Given the description of an element on the screen output the (x, y) to click on. 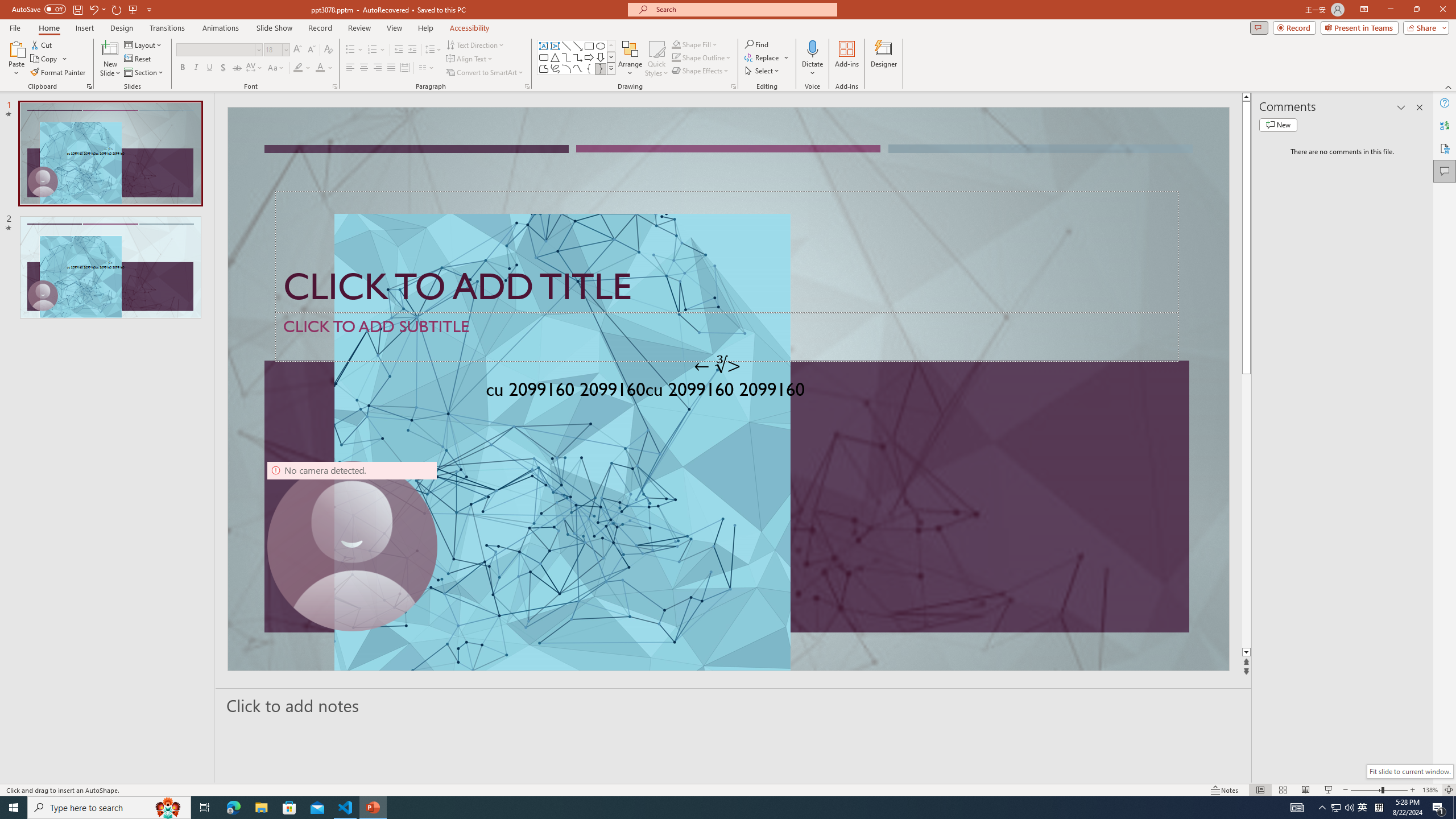
TextBox 7 (717, 364)
New comment (1278, 124)
